Given the description of an element on the screen output the (x, y) to click on. 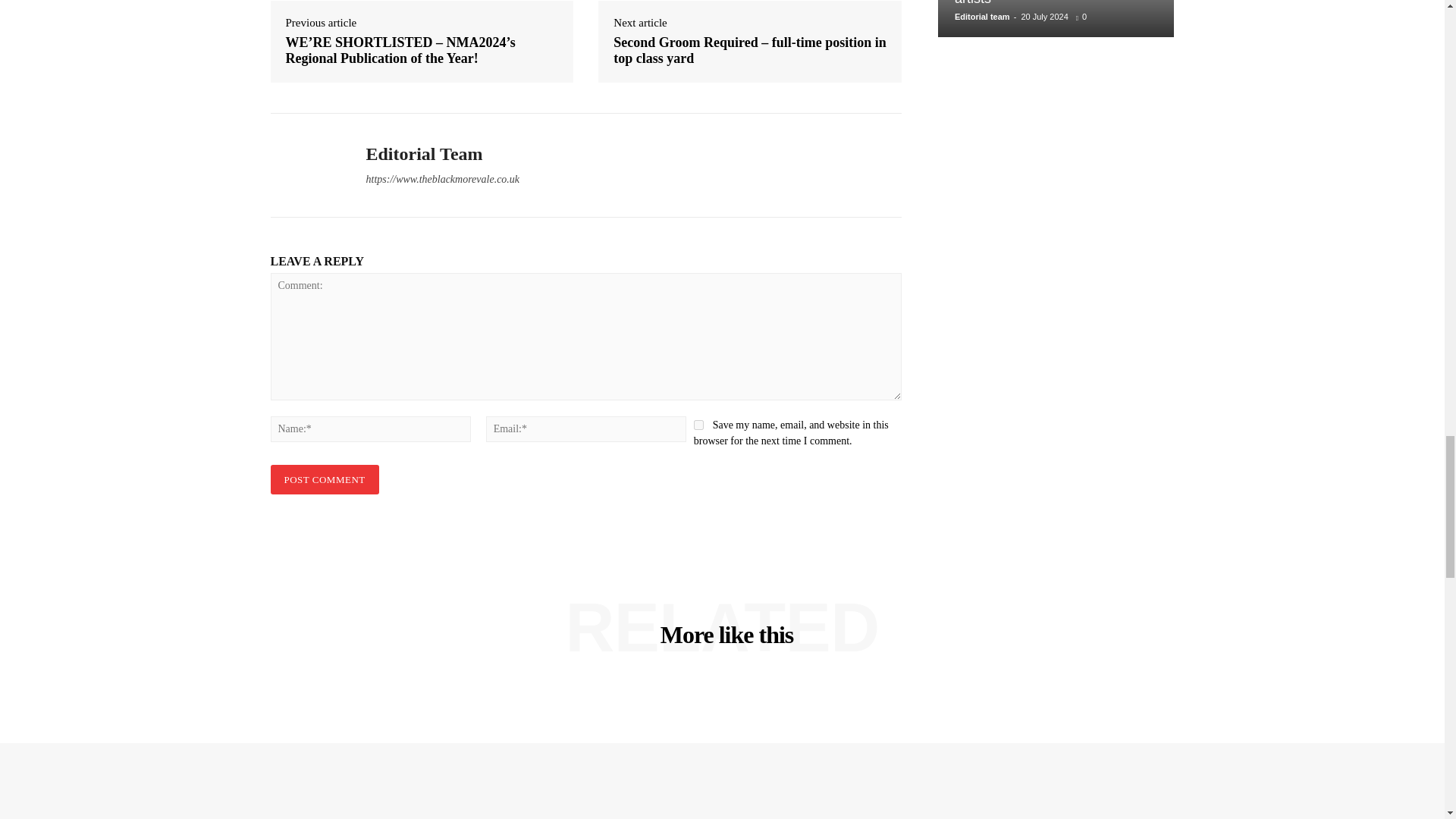
Editorial team (305, 164)
yes (698, 424)
Post Comment (323, 479)
